Given the description of an element on the screen output the (x, y) to click on. 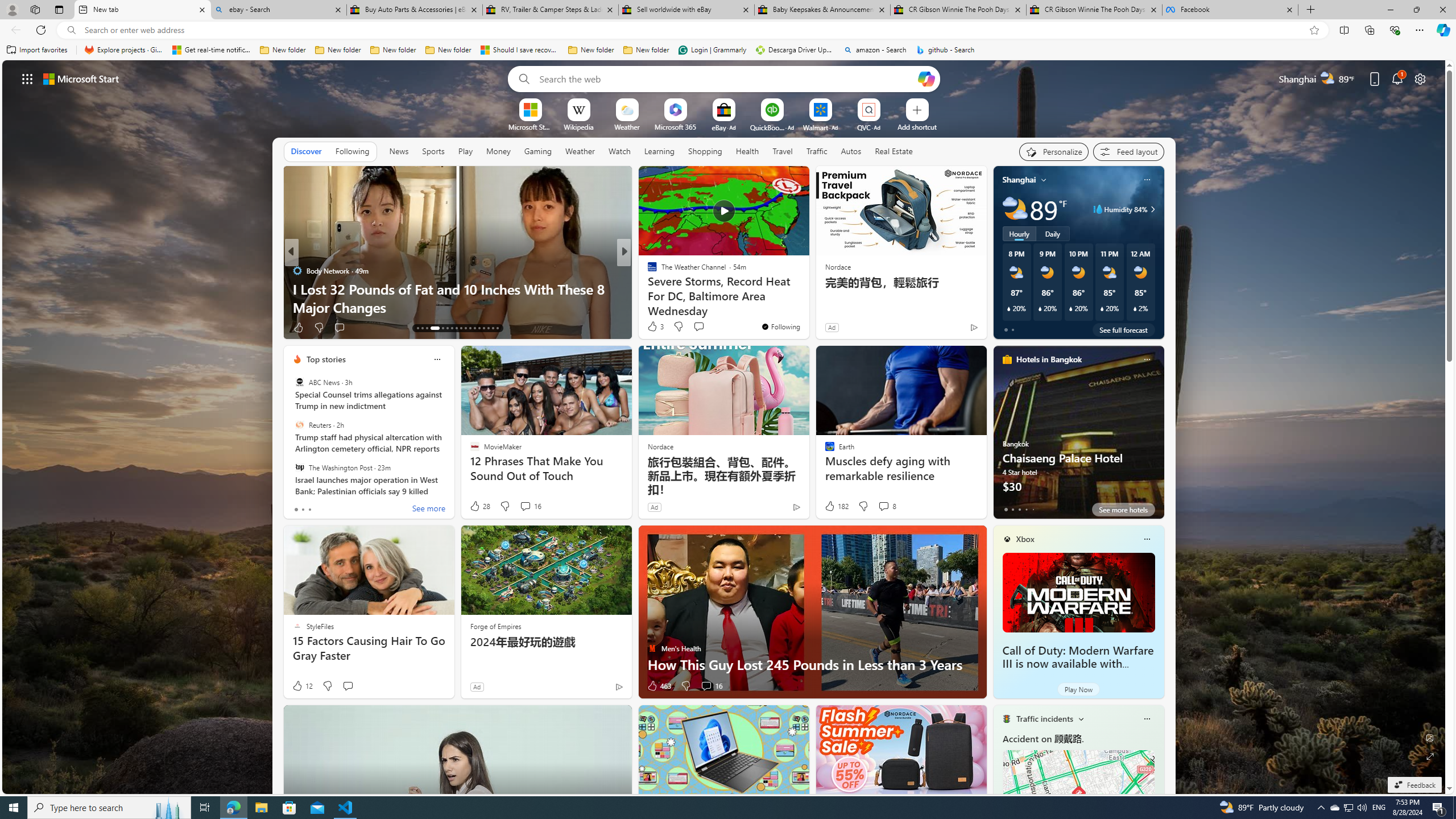
Lonely dolphin may be behind series of attacks on swimmers (807, 298)
My location (1043, 179)
20 Activities People Over 60 Should Skip (807, 307)
32 Like (652, 327)
tab-0 (1005, 509)
Microsoft 365 (675, 126)
AutomationID: tab-21 (460, 328)
Personalize your feed" (1054, 151)
Humidity 84% (1150, 208)
Add a site (916, 126)
Weather (580, 151)
